Given the description of an element on the screen output the (x, y) to click on. 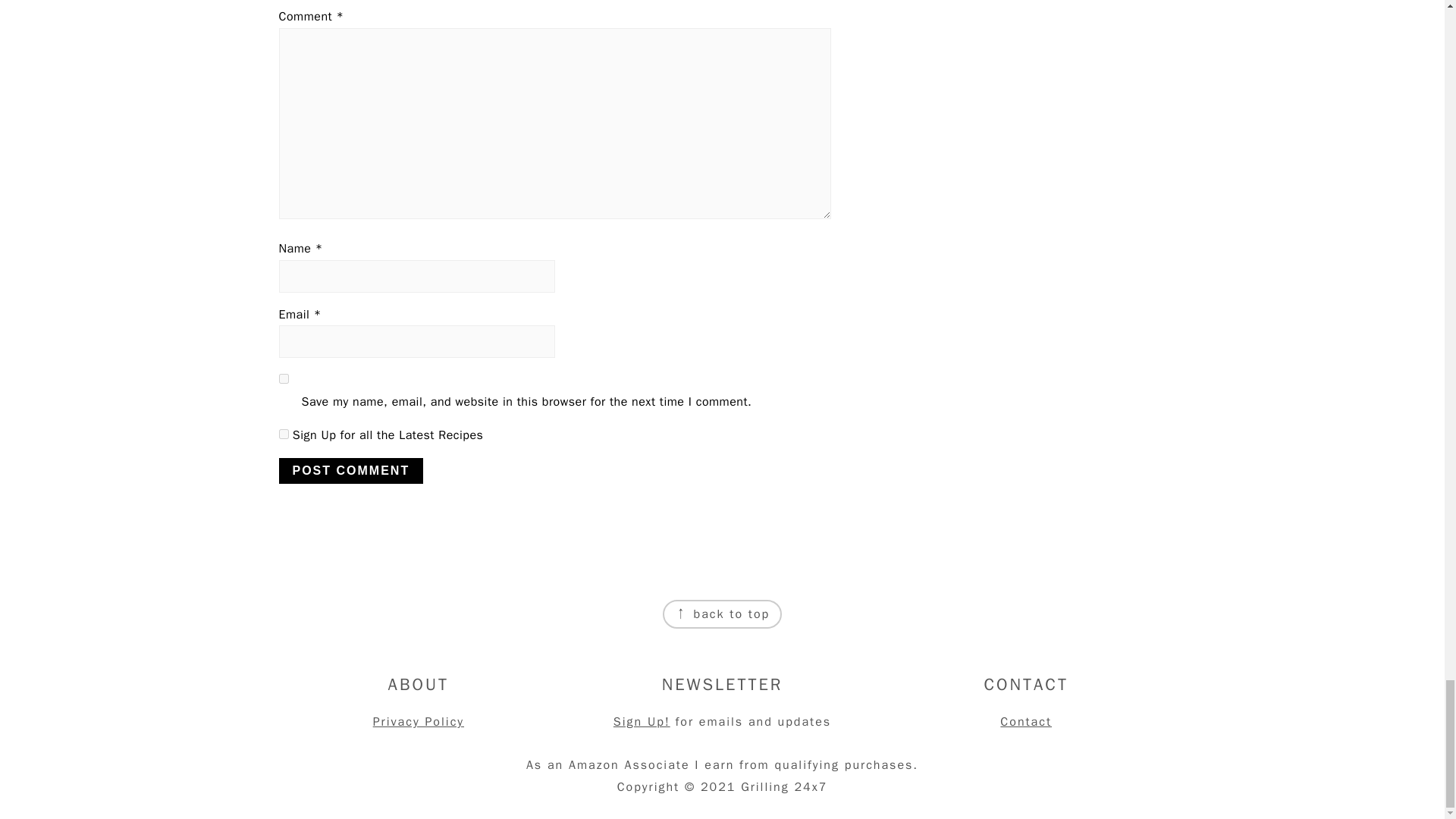
1 (283, 433)
Post Comment (351, 470)
yes (283, 378)
